Given the description of an element on the screen output the (x, y) to click on. 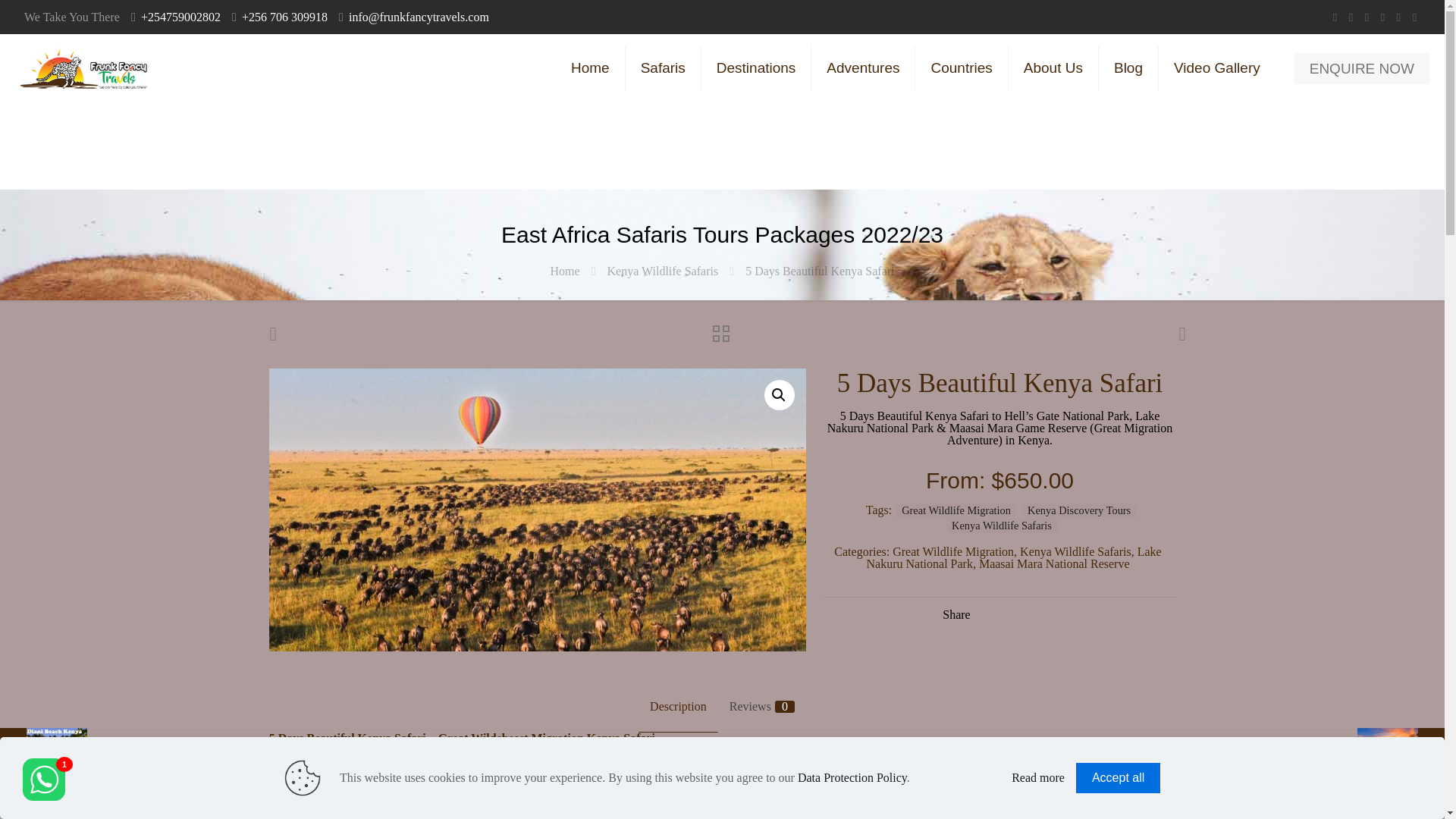
Adventures (862, 68)
Instagram (1399, 17)
Facebook (1350, 17)
Tripadvisor (1415, 17)
LinkedIn (1383, 17)
WhatsApp (1334, 17)
Frunk Fancy Travels (81, 68)
Countries (961, 68)
Destinations (756, 68)
Safaris (663, 68)
Home (591, 68)
